Given the description of an element on the screen output the (x, y) to click on. 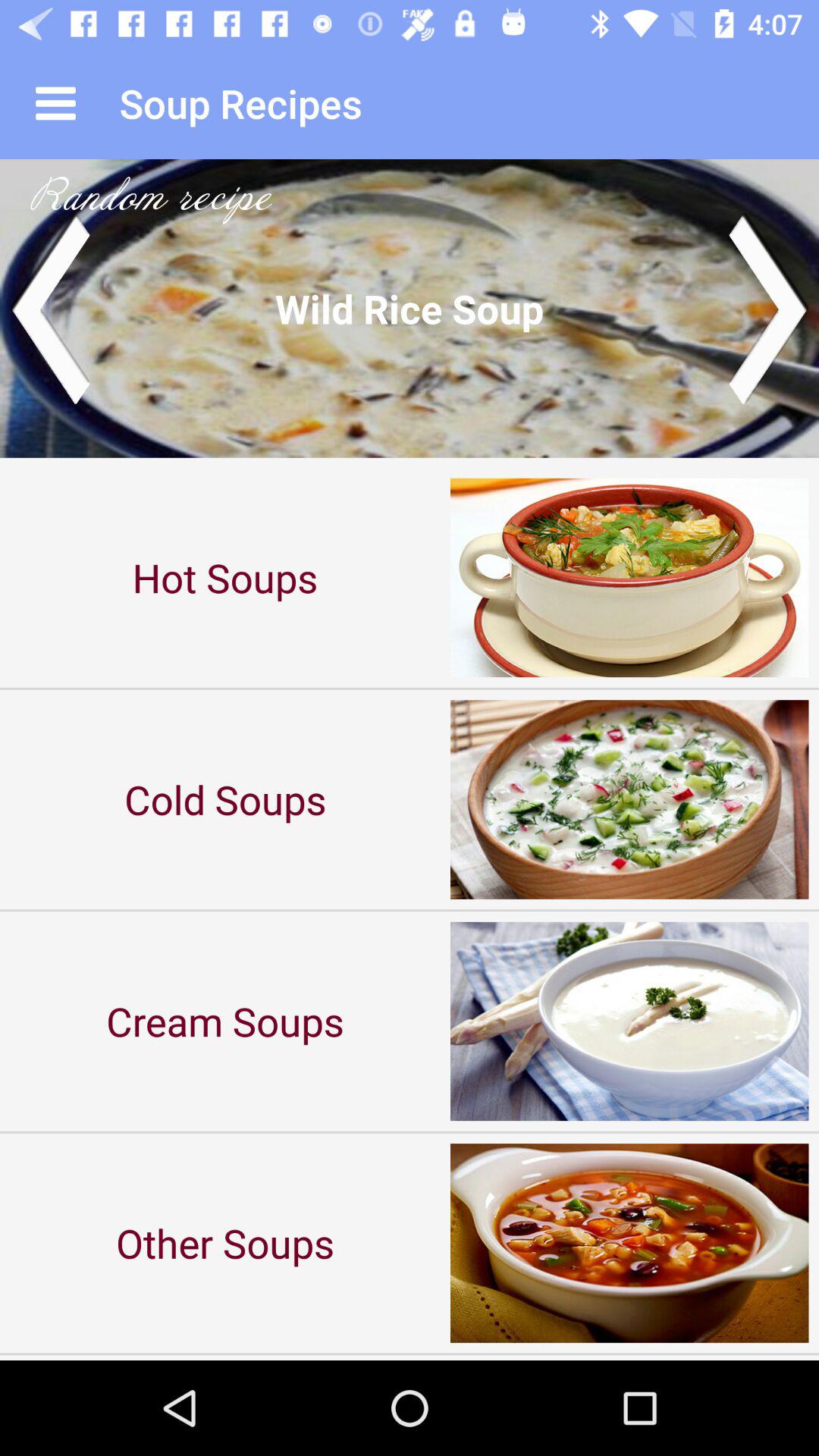
swipe to the cream soups item (225, 1020)
